Given the description of an element on the screen output the (x, y) to click on. 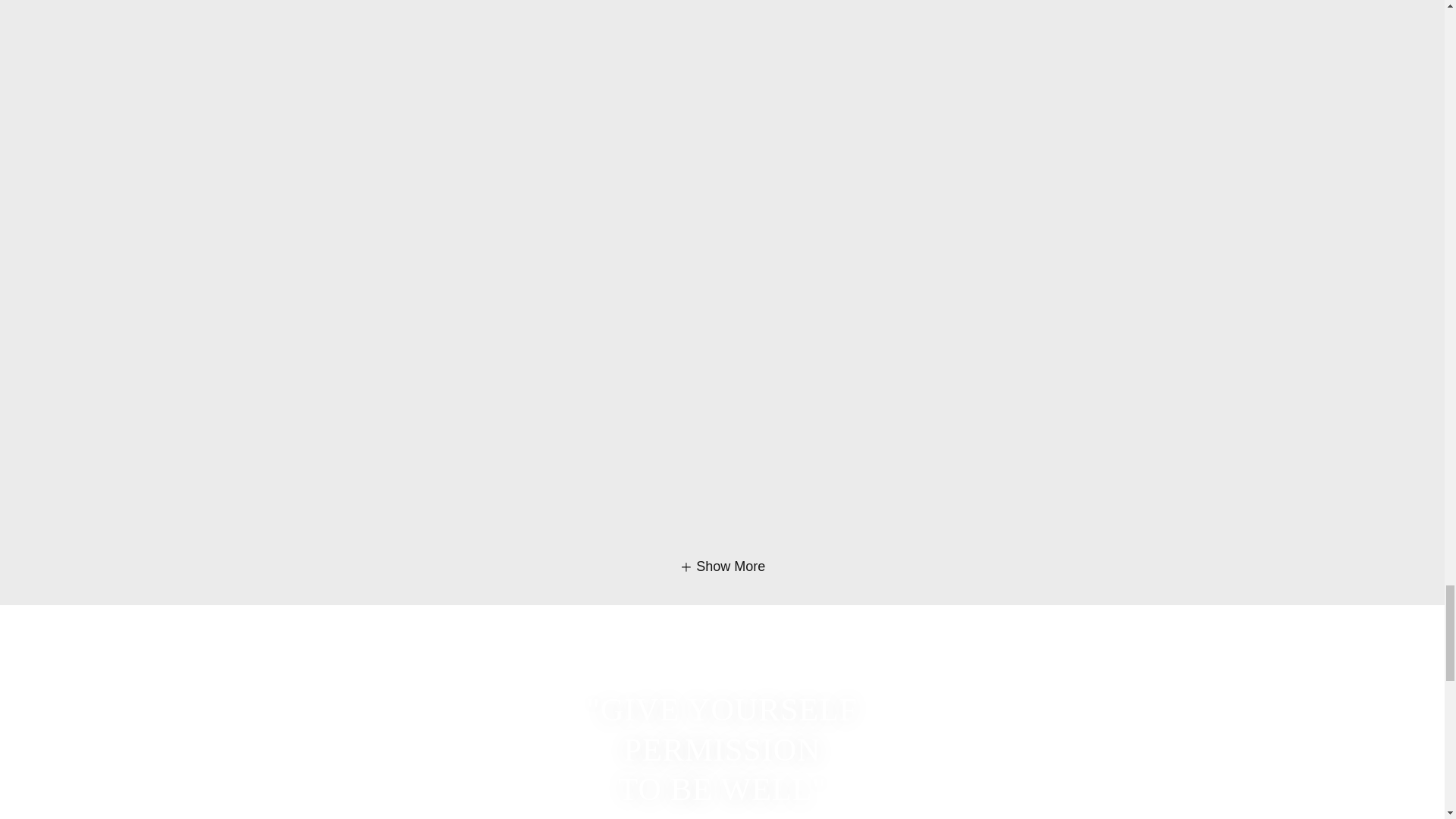
Show More (722, 566)
